Given the description of an element on the screen output the (x, y) to click on. 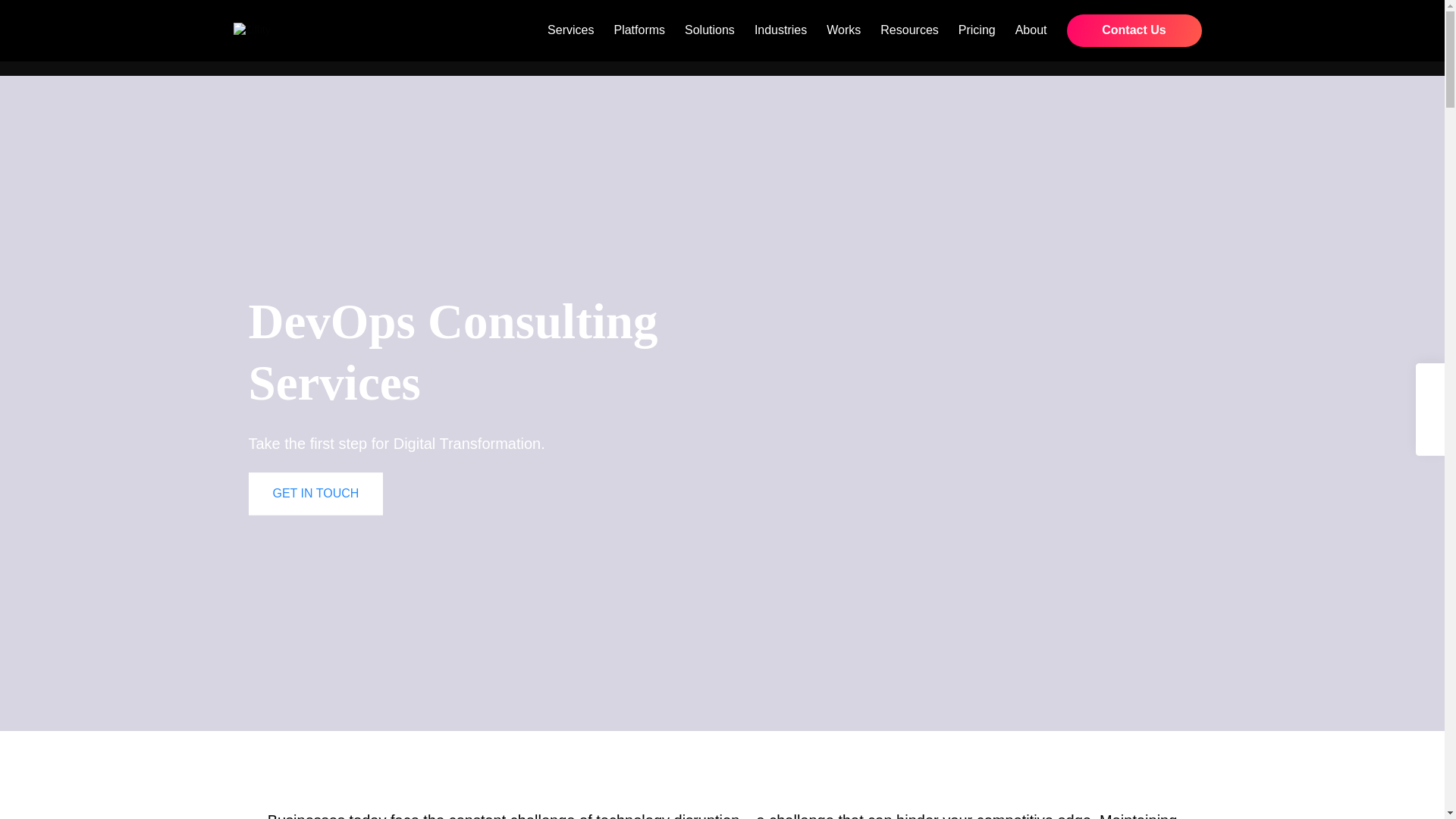
Services (570, 30)
Platforms (639, 30)
Ziffity (251, 29)
